Given the description of an element on the screen output the (x, y) to click on. 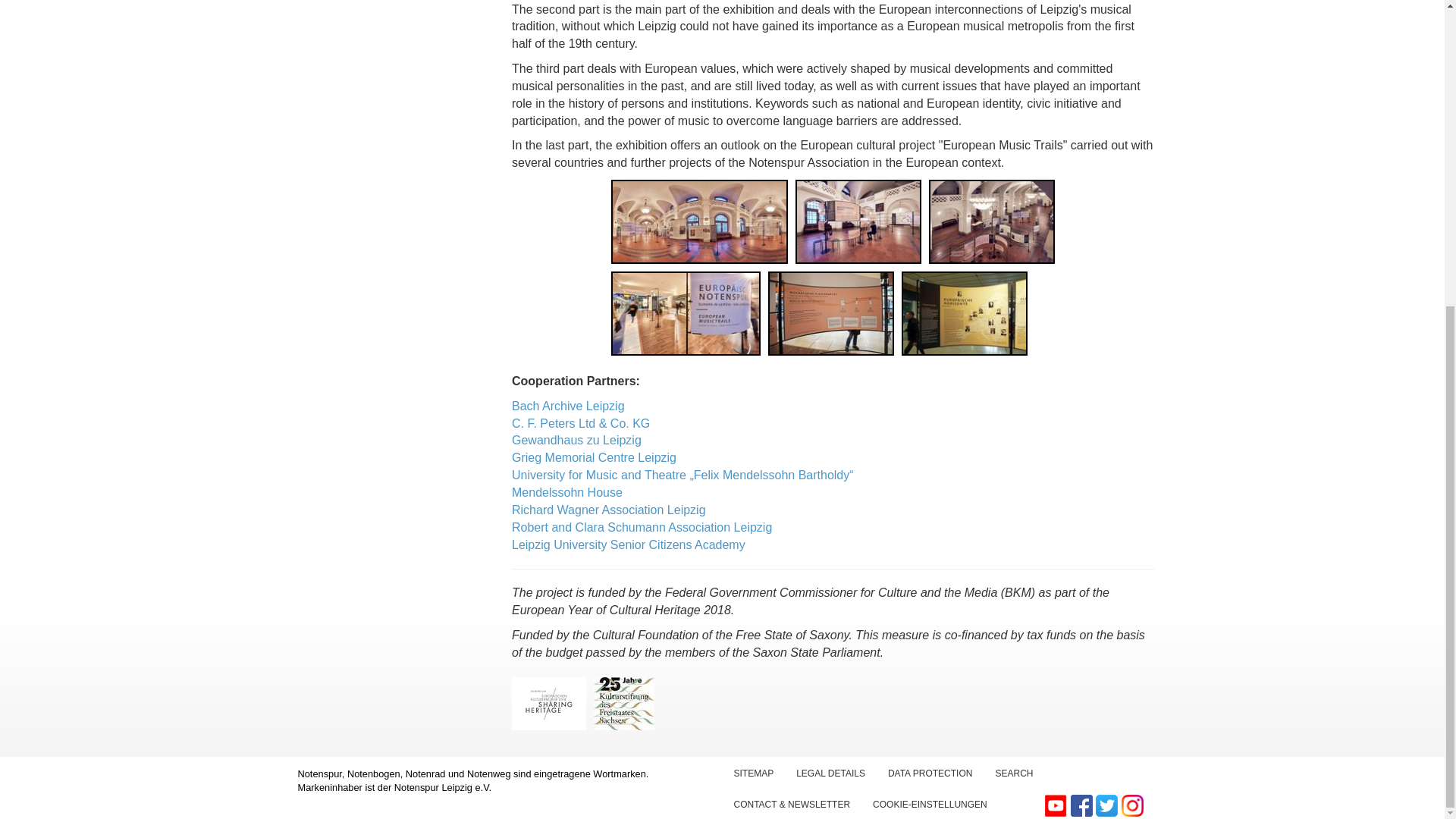
Sharing Heritage (549, 703)
YouTube - Leipziger Notenspur (1057, 803)
Cultural Foundation of the Free State of Saxony (623, 703)
Instagram - Leipziger Notenspur (1131, 803)
facebook - Leipziger Notenspur (1083, 803)
twitter - Leipziger Notenspur (1108, 803)
